Given the description of an element on the screen output the (x, y) to click on. 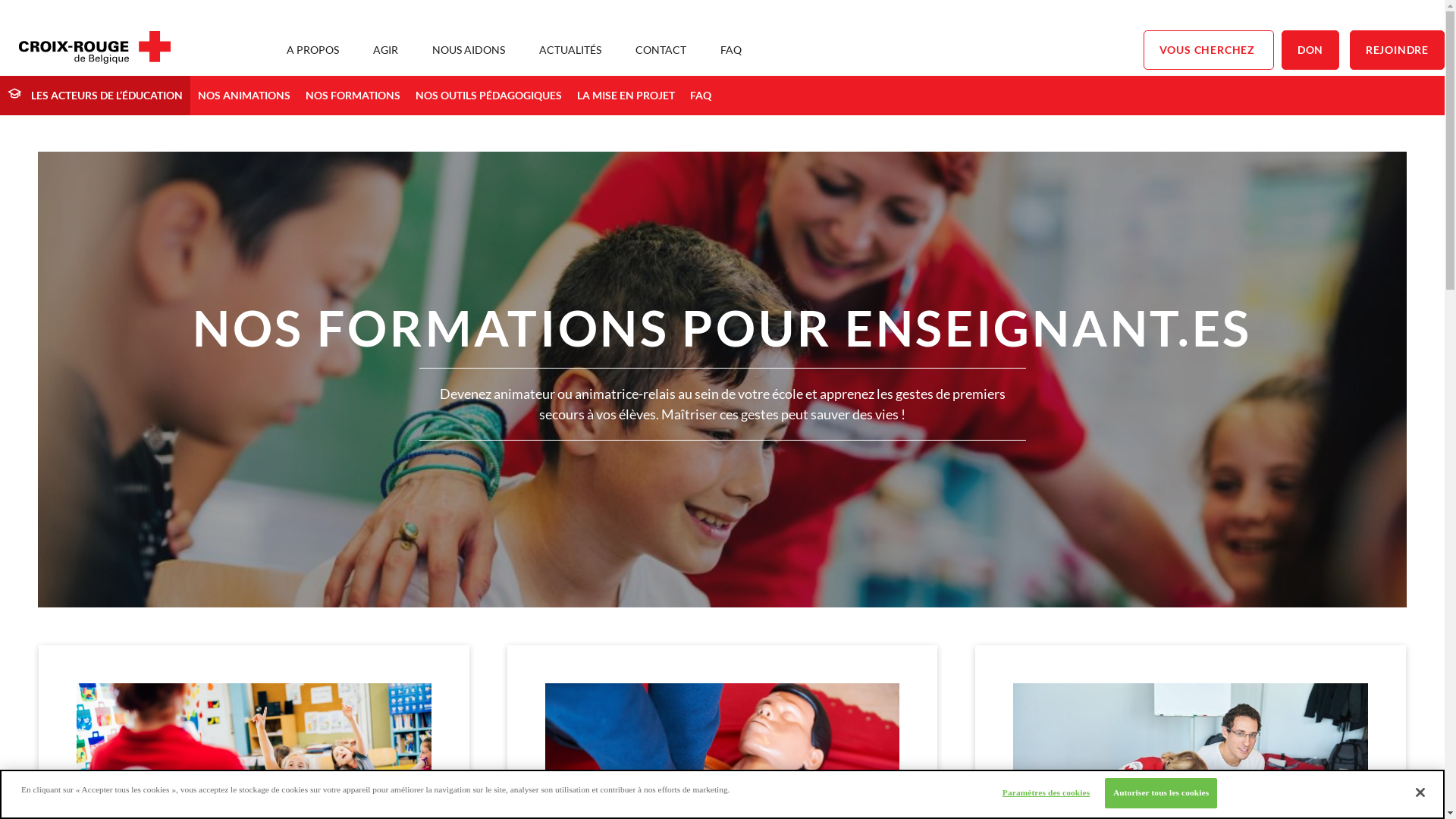
REJOINDRE Element type: text (1396, 49)
FAQ Element type: text (730, 49)
A PROPOS Element type: text (312, 49)
VOUS CHERCHEZ Element type: text (1208, 49)
Autoriser tous les cookies Element type: text (1160, 793)
FAQ Element type: text (700, 95)
AGIR Element type: text (385, 49)
NOS FORMATIONS Element type: text (352, 95)
NOS ANIMATIONS Element type: text (244, 95)
LA MISE EN PROJET Element type: text (625, 95)
DON Element type: text (1310, 49)
NOUS AIDONS Element type: text (468, 49)
CONTACT Element type: text (660, 49)
